Given the description of an element on the screen output the (x, y) to click on. 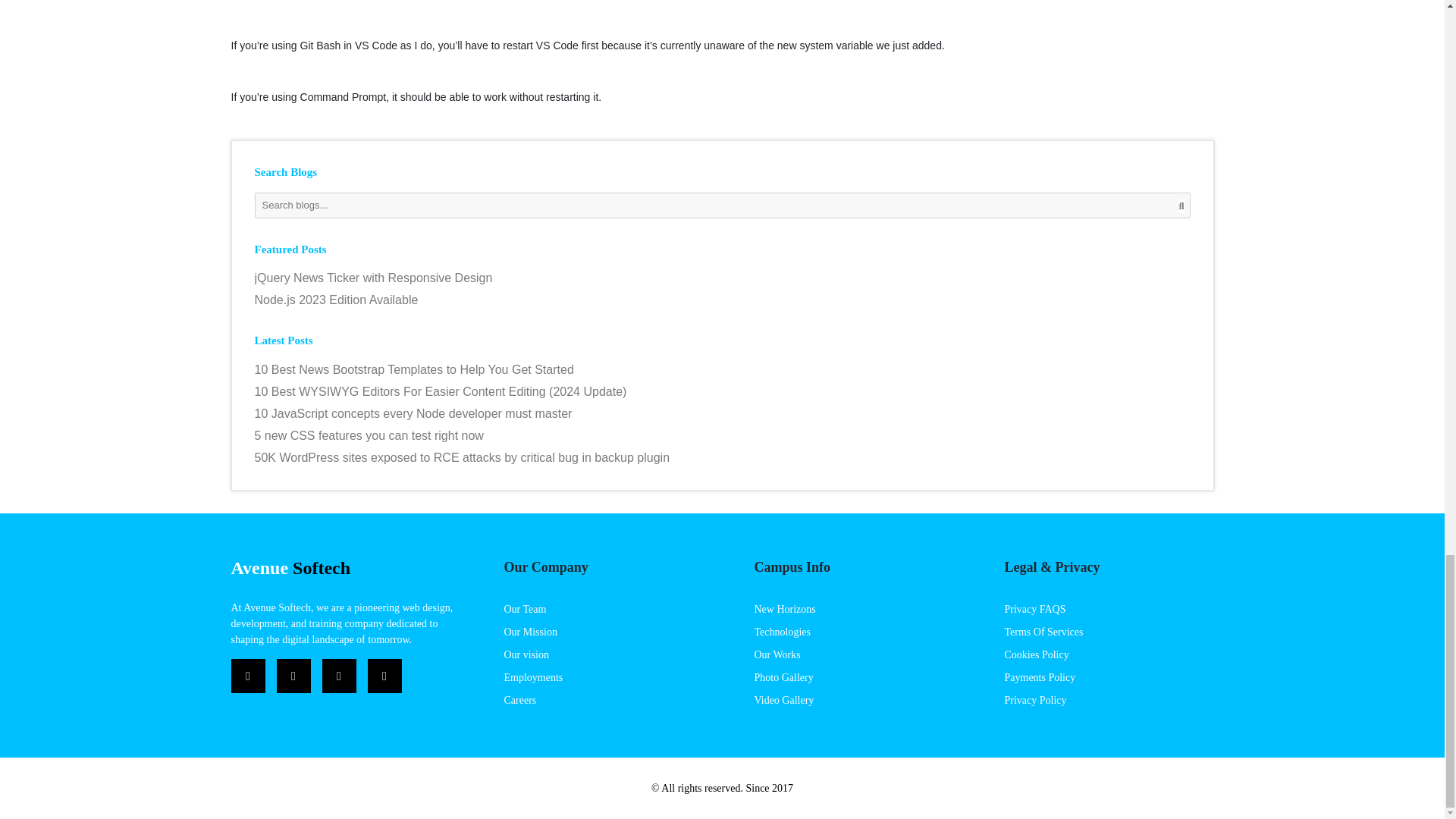
Privacy FAQS (1034, 609)
Employments (532, 677)
Cookies Policy (1036, 654)
Our Team (524, 609)
10 Best News Bootstrap Templates to Help You Get Started (722, 370)
AvenueSoftech (290, 567)
Careers (519, 699)
Our vision (525, 654)
jQuery News Ticker with Responsive Design (722, 278)
